Given the description of an element on the screen output the (x, y) to click on. 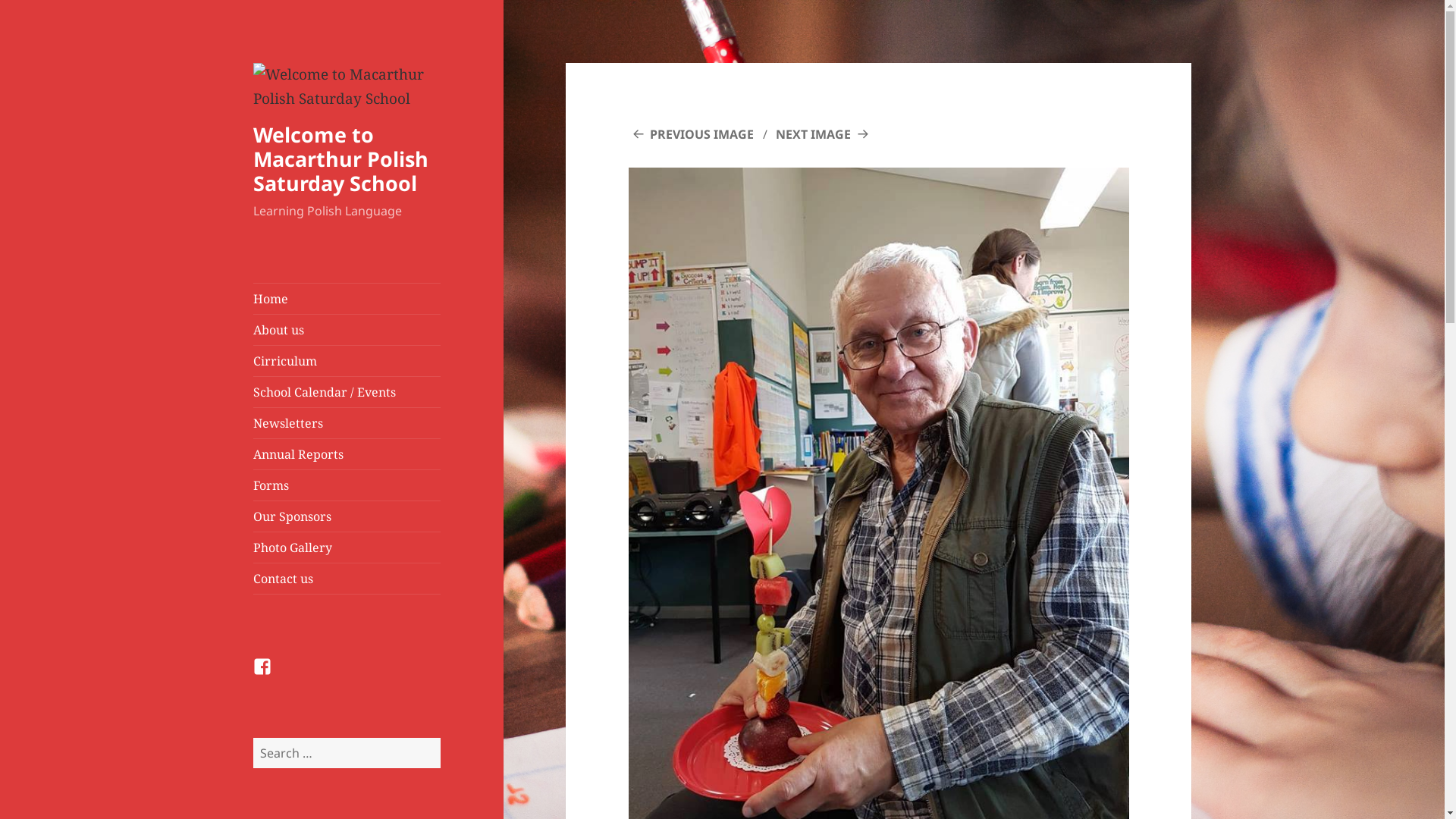
Search Element type: text (439, 737)
Welcome to Macarthur Polish Saturday School Element type: text (340, 158)
School Calendar / Events Element type: text (347, 391)
Contact us Element type: text (347, 578)
PREVIOUS IMAGE Element type: text (691, 133)
About us Element type: text (347, 329)
Newsletters Element type: text (347, 422)
Annual Reports Element type: text (347, 454)
Facebook Element type: text (271, 675)
Home Element type: text (347, 298)
Our Sponsors Element type: text (347, 516)
Forms Element type: text (347, 485)
Cirriculum Element type: text (347, 360)
NEXT IMAGE Element type: text (823, 133)
Photo Gallery Element type: text (347, 547)
